Given the description of an element on the screen output the (x, y) to click on. 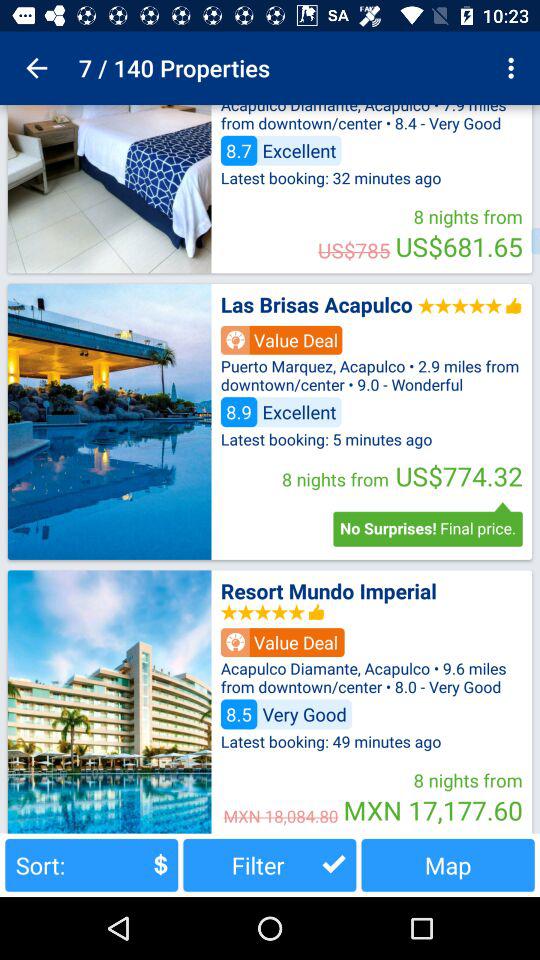
open item to the right of the 7 / 140 properties item (513, 67)
